Given the description of an element on the screen output the (x, y) to click on. 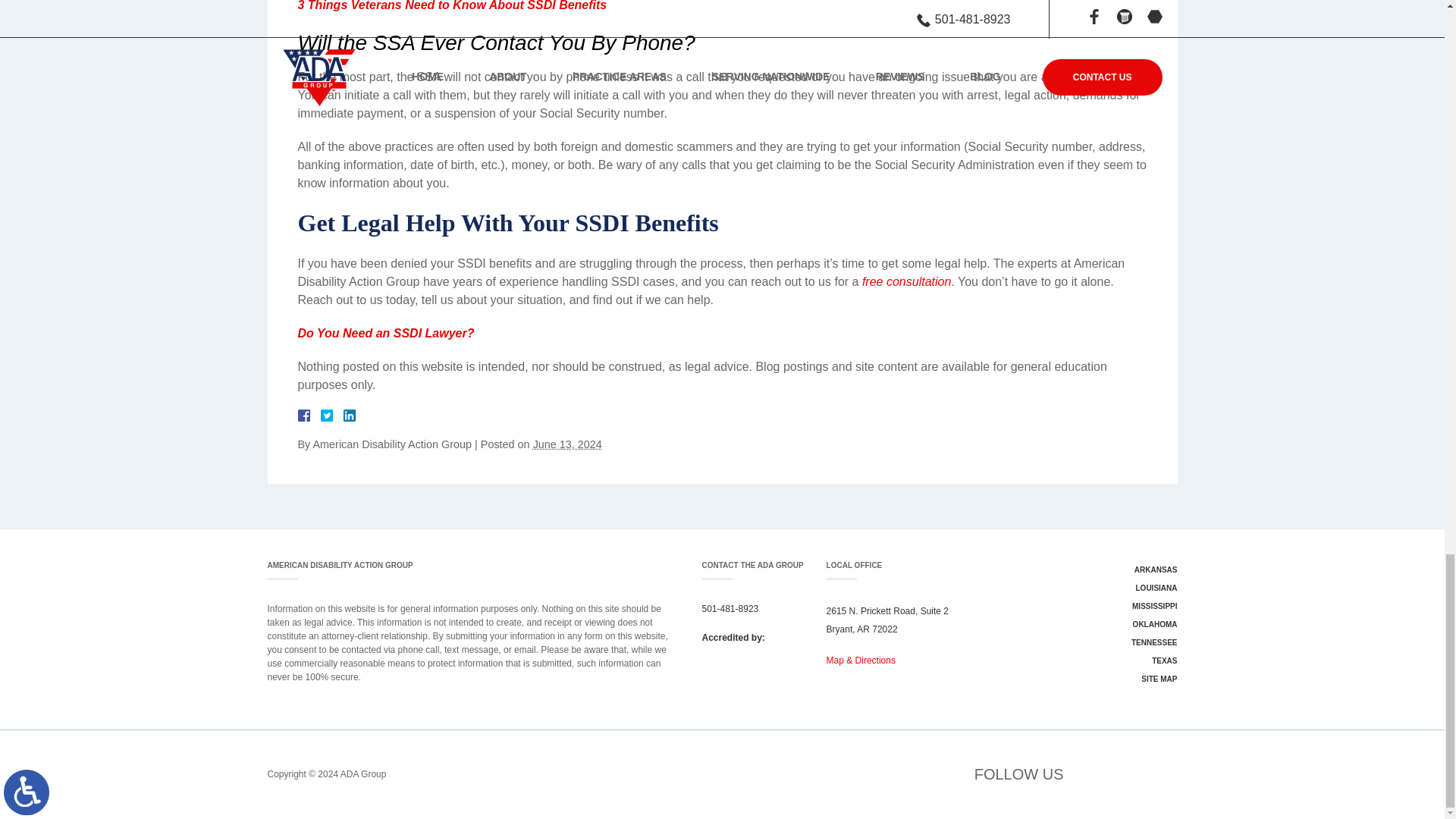
LinkedIn (342, 415)
Do You Need an SSDI Lawyer? (385, 332)
3 Things Veterans Need to Know About SSDI Benefits (452, 5)
free consultation (905, 281)
Twitter (331, 415)
2024-06-13T16:19:03-0700 (567, 444)
Facebook (321, 415)
